Given the description of an element on the screen output the (x, y) to click on. 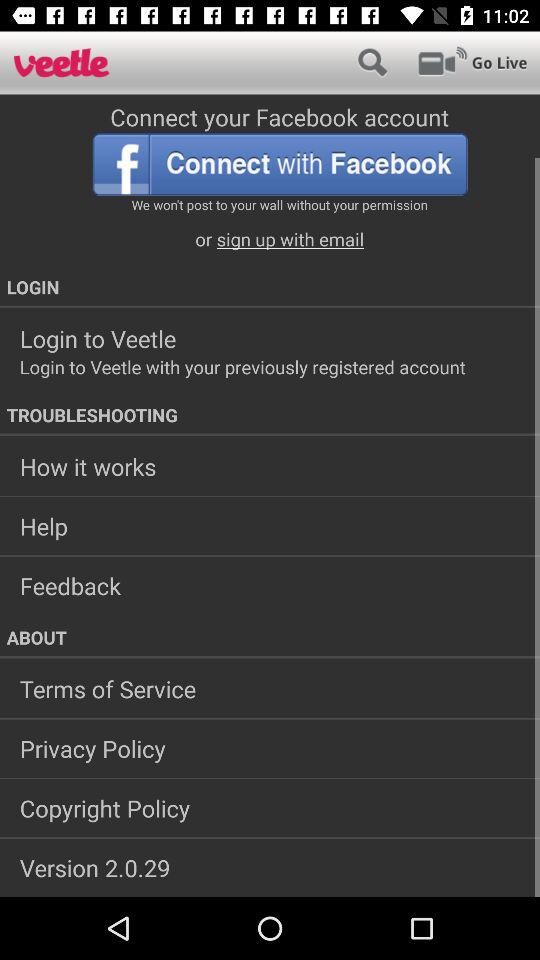
search (372, 62)
